Given the description of an element on the screen output the (x, y) to click on. 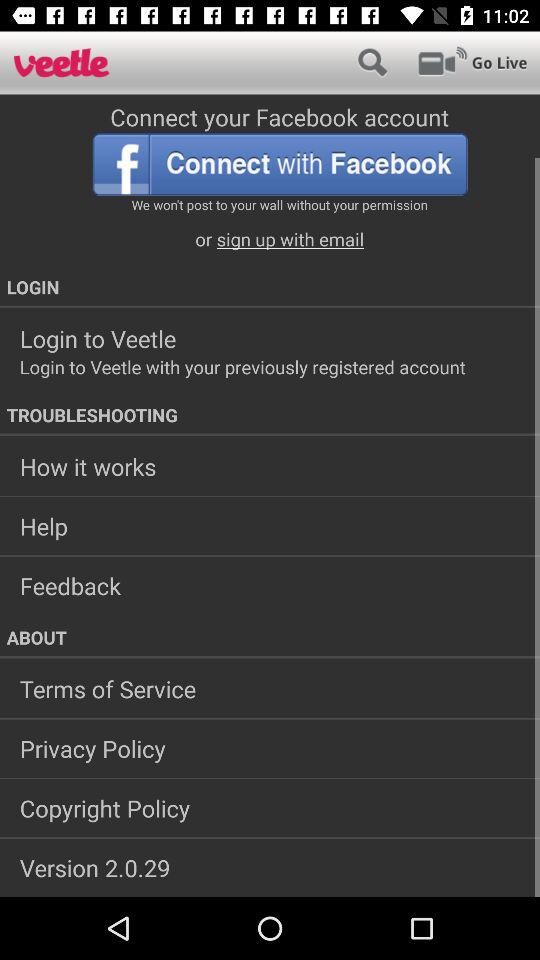
search (372, 62)
